Given the description of an element on the screen output the (x, y) to click on. 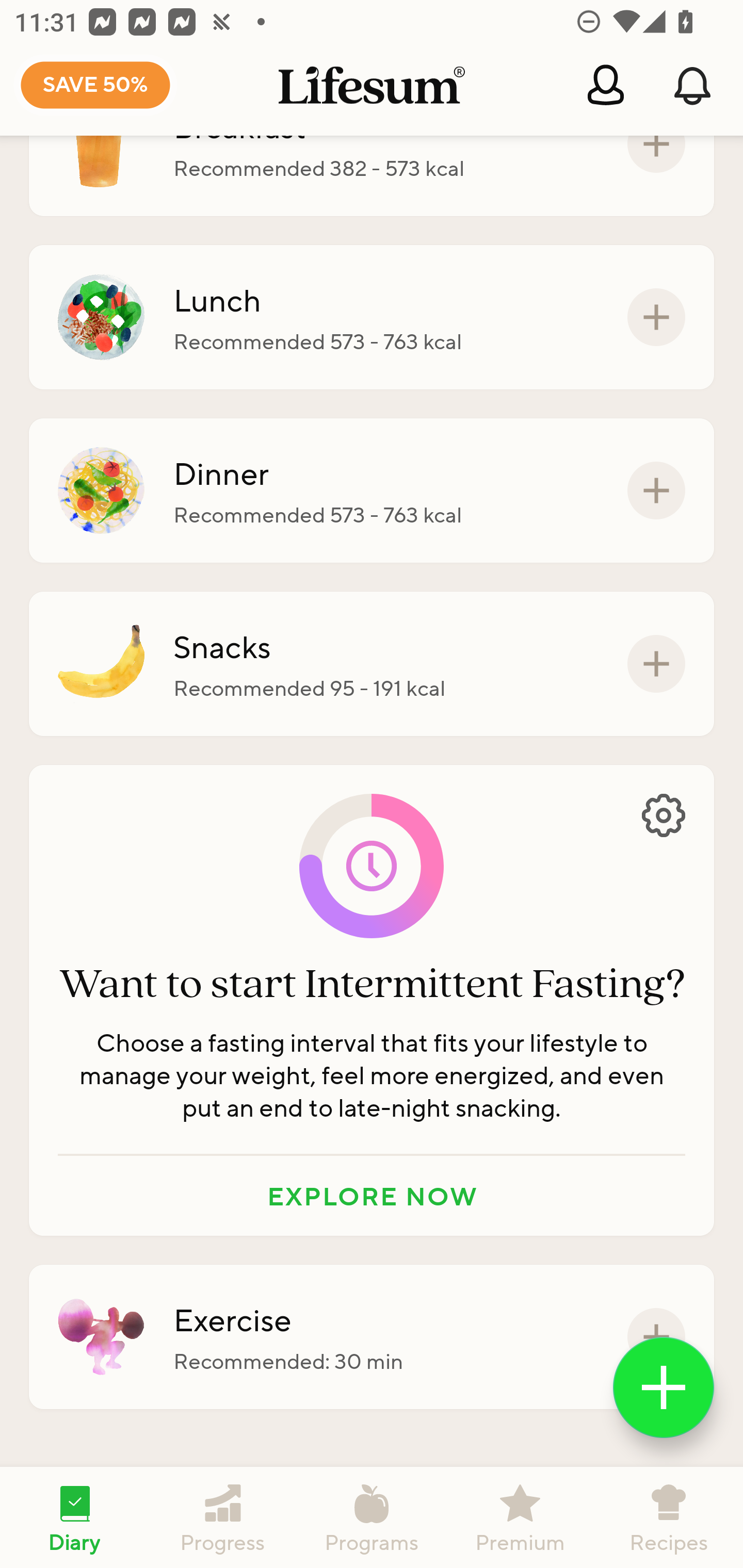
Lunch Recommended 573 - 763 kcal (371, 316)
Dinner Recommended 573 - 763 kcal (371, 490)
Snacks Recommended 95 - 191 kcal (371, 663)
EXPLORE NOW (371, 1195)
Exercise Recommended: 30 min (371, 1337)
Progress (222, 1517)
Programs (371, 1517)
Premium (519, 1517)
Recipes (668, 1517)
